Given the description of an element on the screen output the (x, y) to click on. 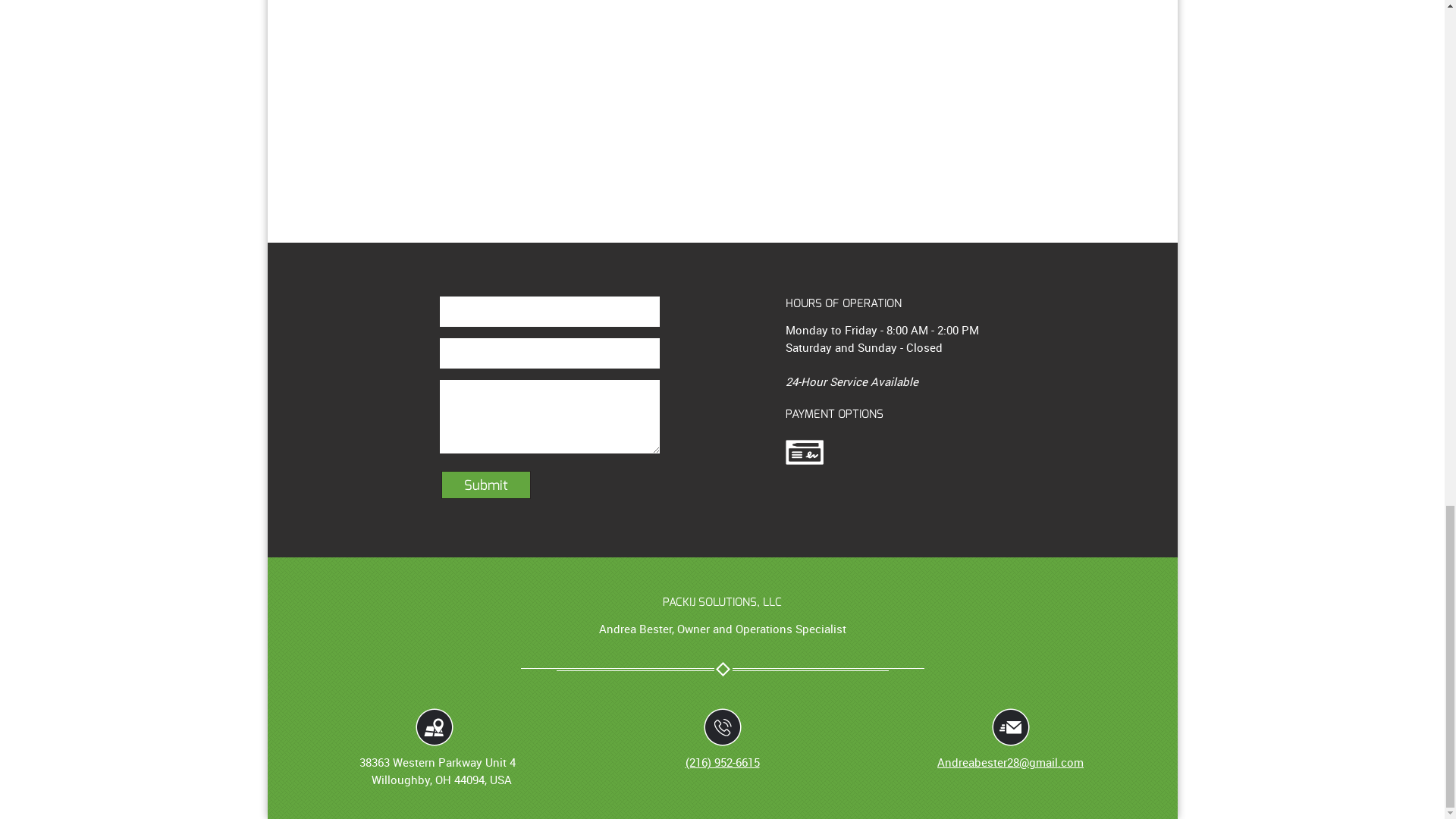
Submit (485, 484)
Check (805, 452)
